Given the description of an element on the screen output the (x, y) to click on. 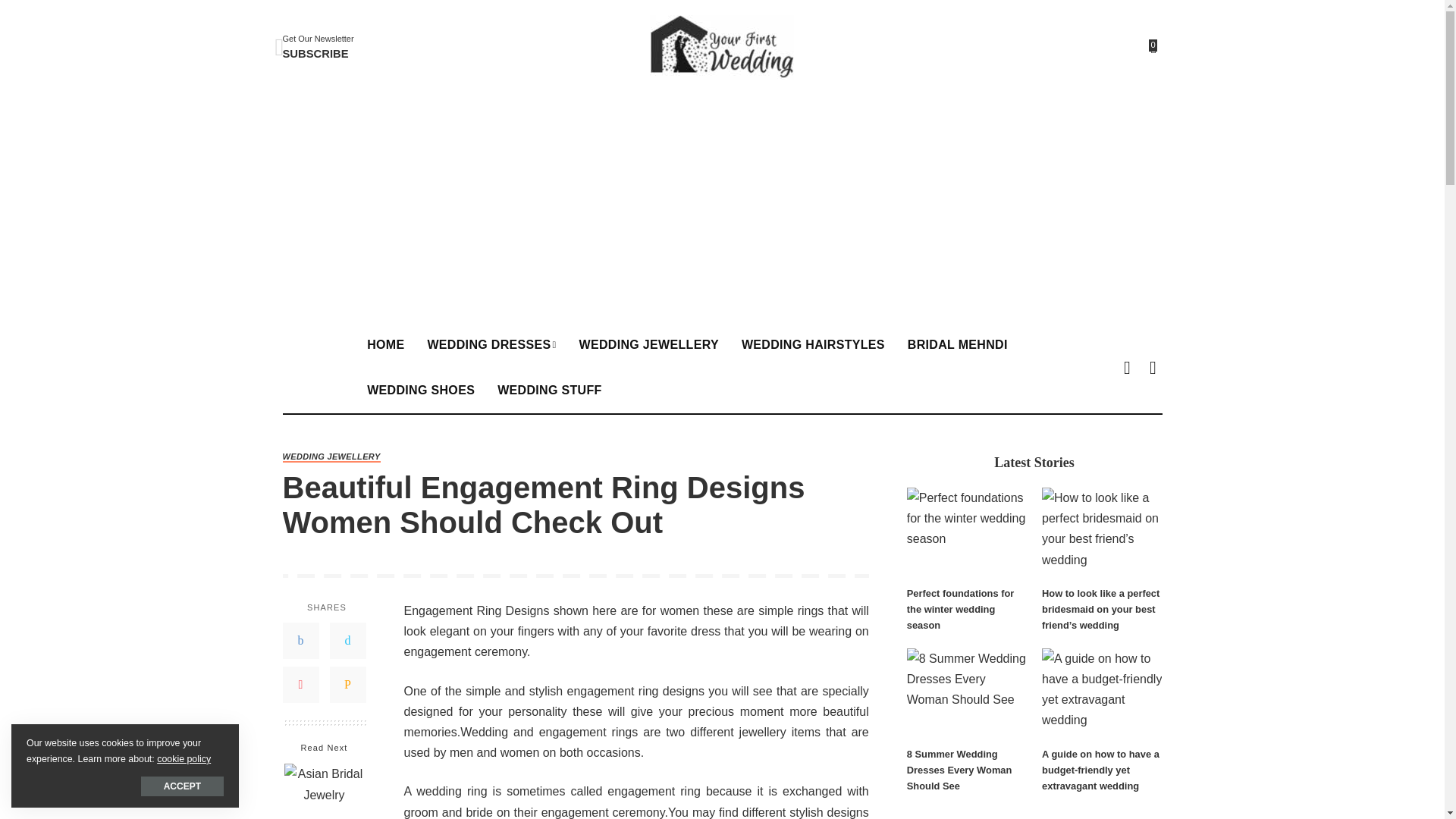
WEDDING STUFF (549, 390)
Twitter (347, 640)
WEDDING HAIRSTYLES (813, 344)
WEDDING SHOES (420, 390)
Facebook (300, 640)
Yourfirstwedding.com (721, 47)
WEDDING JEWELLERY (648, 344)
WEDDING DRESSES (490, 344)
BRIDAL MEHNDI (957, 344)
Bookmarks (1152, 47)
0 (1152, 47)
HOME (384, 344)
